Given the description of an element on the screen output the (x, y) to click on. 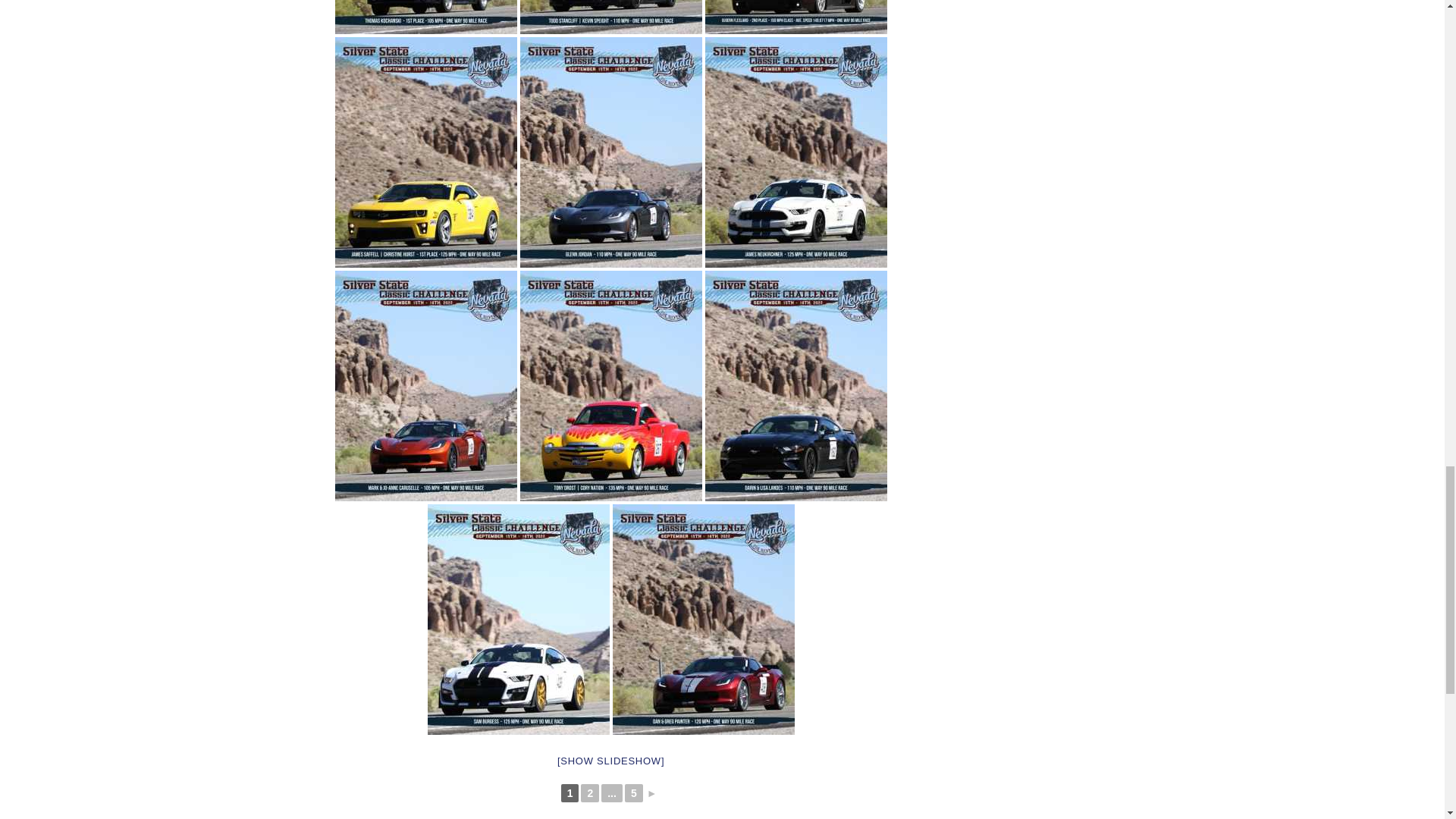
2 (589, 792)
5 (633, 792)
